Given the description of an element on the screen output the (x, y) to click on. 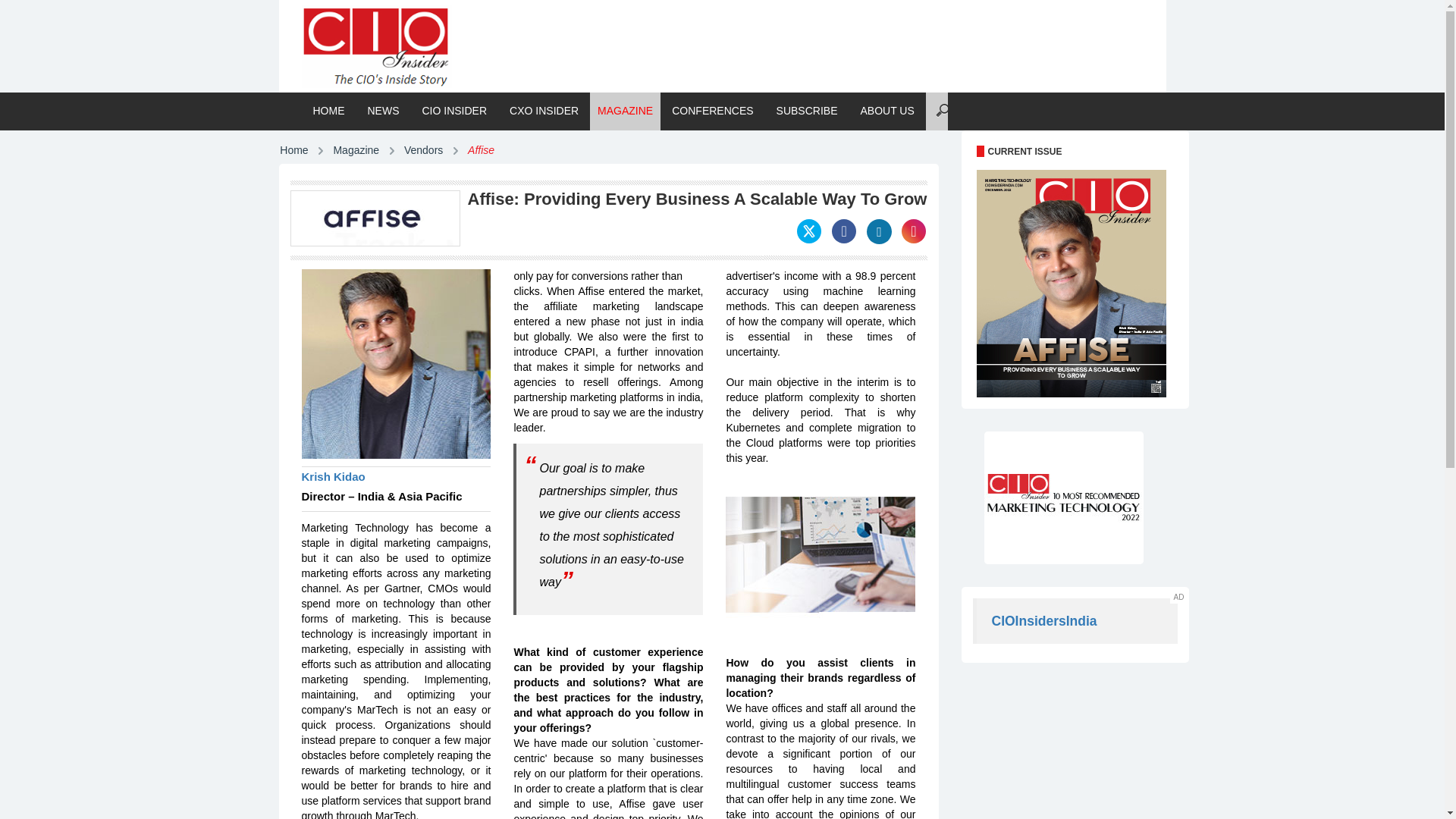
SUBSCRIBE (806, 111)
CXO INSIDER (543, 111)
Affise: Providing Every Business A Scalable Way To Grow (374, 218)
3rd party ad content (788, 38)
CIO INSIDER (454, 111)
Magazine (355, 150)
CONFERENCES (712, 111)
Krish Kidao (396, 477)
Advertisement (1063, 752)
Home (293, 150)
